Given the description of an element on the screen output the (x, y) to click on. 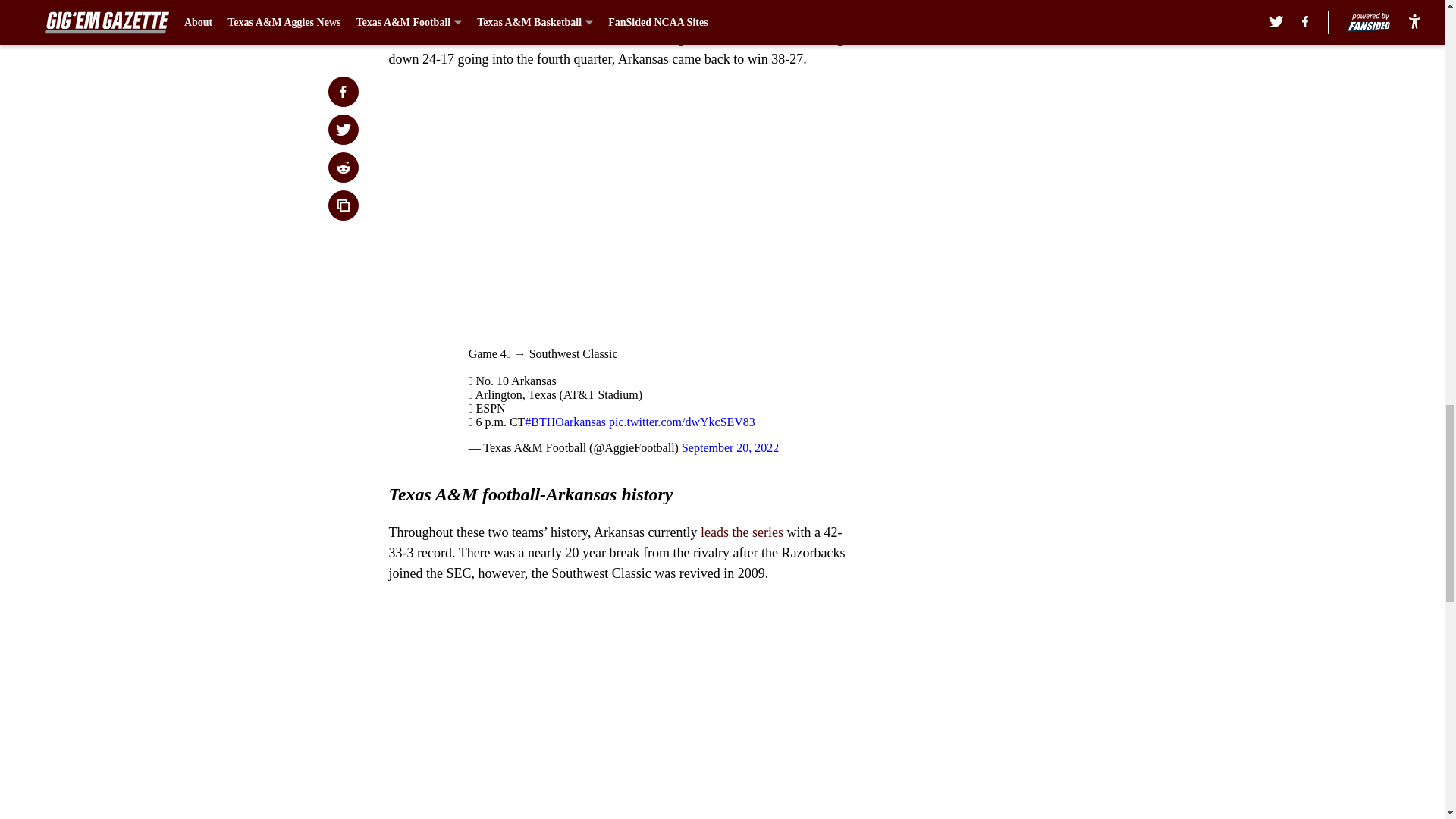
leads the series (740, 531)
September 20, 2022 (729, 447)
